Given the description of an element on the screen output the (x, y) to click on. 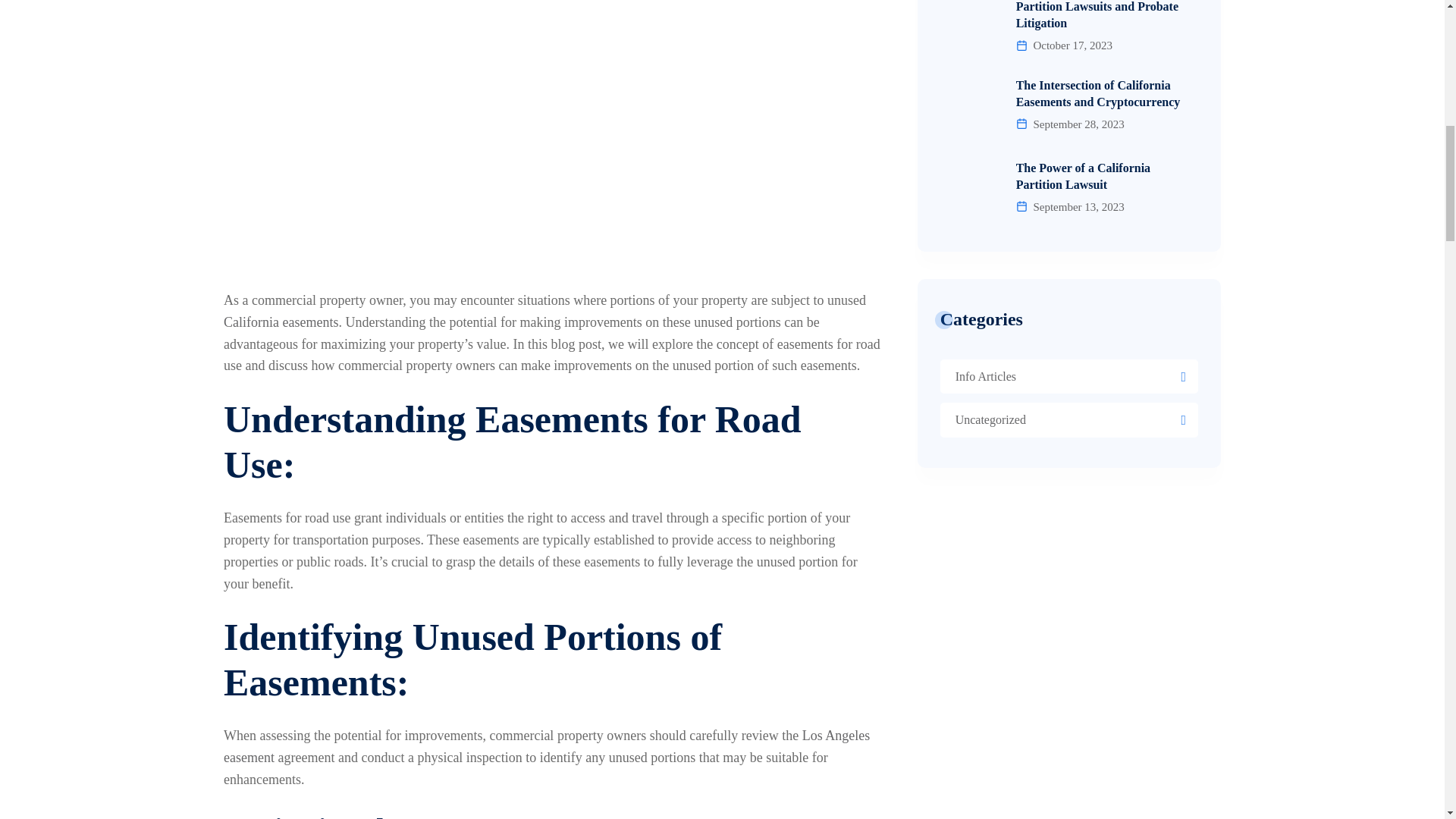
Los Angeles easement (546, 746)
Uncategorized (990, 419)
The Power of a California Partition Lawsuit (1069, 176)
Info Articles (985, 376)
The Intersection of California Easements and Cryptocurrency (1069, 93)
California easements (280, 322)
